Given the description of an element on the screen output the (x, y) to click on. 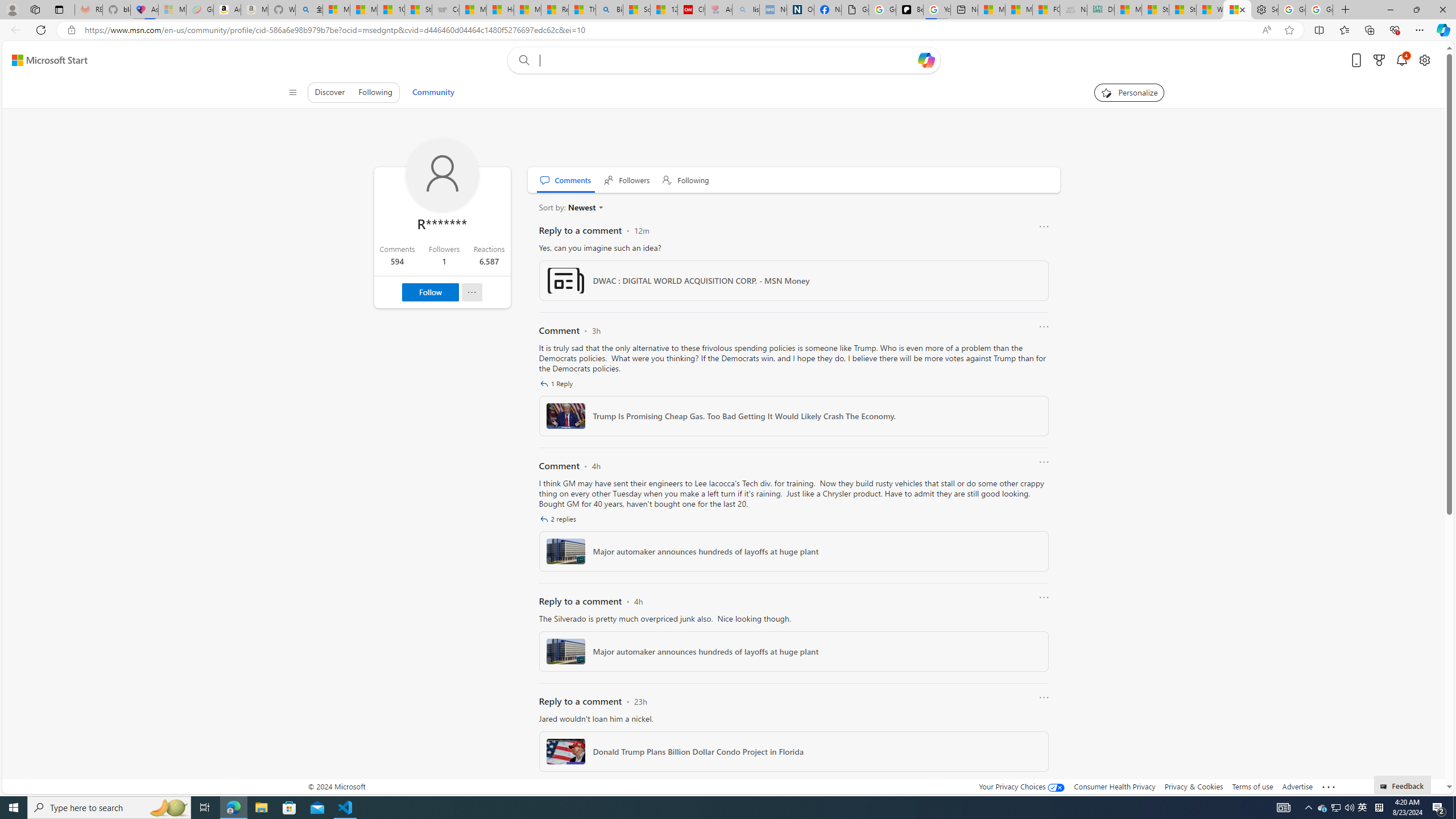
Your Privacy Choices (1021, 785)
FOX News - MSN (1045, 9)
